Given the description of an element on the screen output the (x, y) to click on. 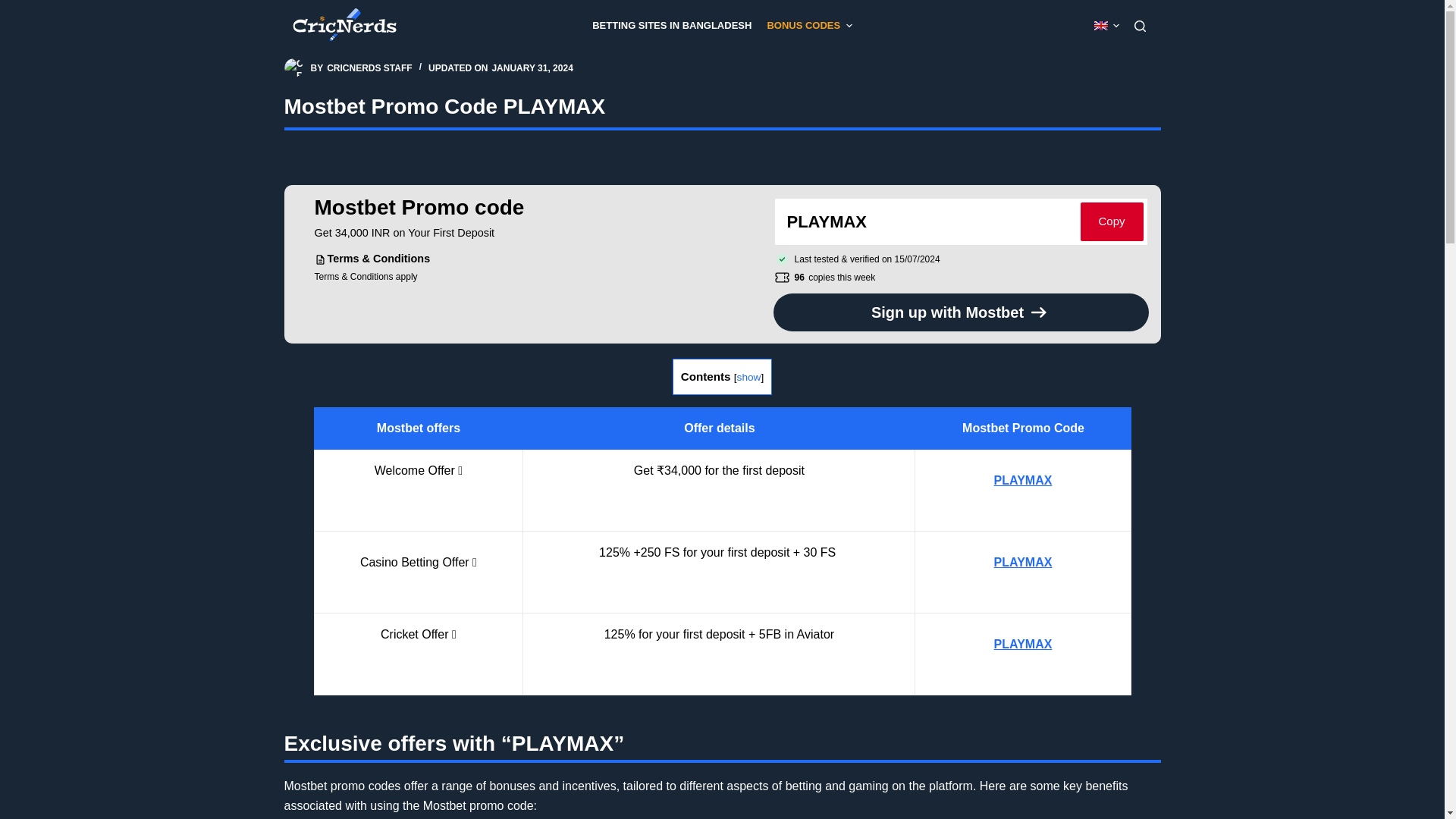
PLAYMAX (1023, 644)
Skip to content (15, 7)
Mostbet Promo Code PLAYMAX (721, 103)
PLAYMAX (1023, 480)
BETTING SITES IN BANGLADESH (671, 25)
CRICNERDS STAFF (369, 68)
BONUS CODES (808, 25)
show (748, 377)
PLAYMAX (1023, 562)
Posts by CricNerds Staff (369, 68)
